Given the description of an element on the screen output the (x, y) to click on. 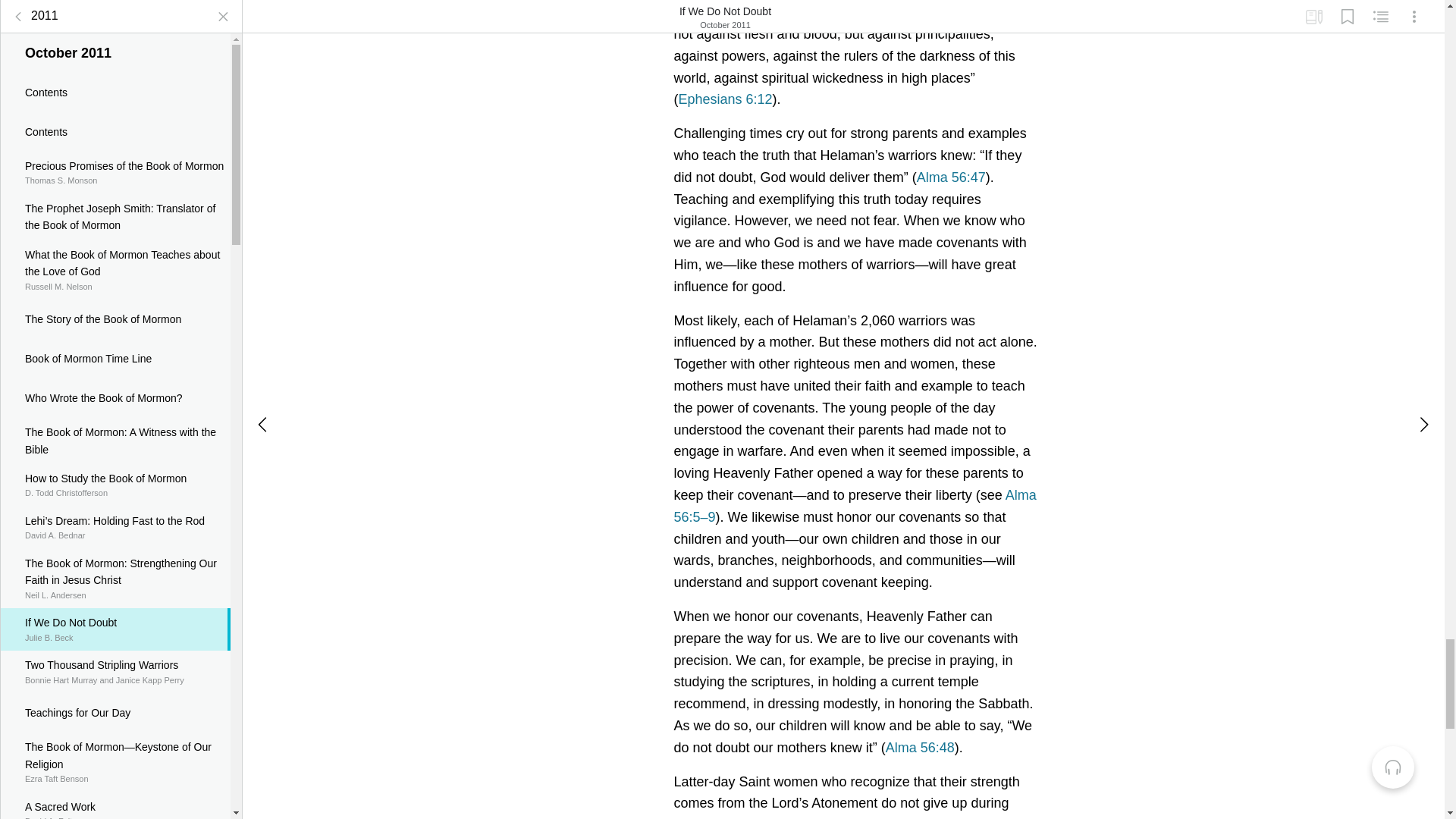
Poster: A Voice from the Dust (115, 210)
How the Book of Mormon Changed My Life (115, 367)
Common Questions about the Book of Mormon (115, 83)
